Given the description of an element on the screen output the (x, y) to click on. 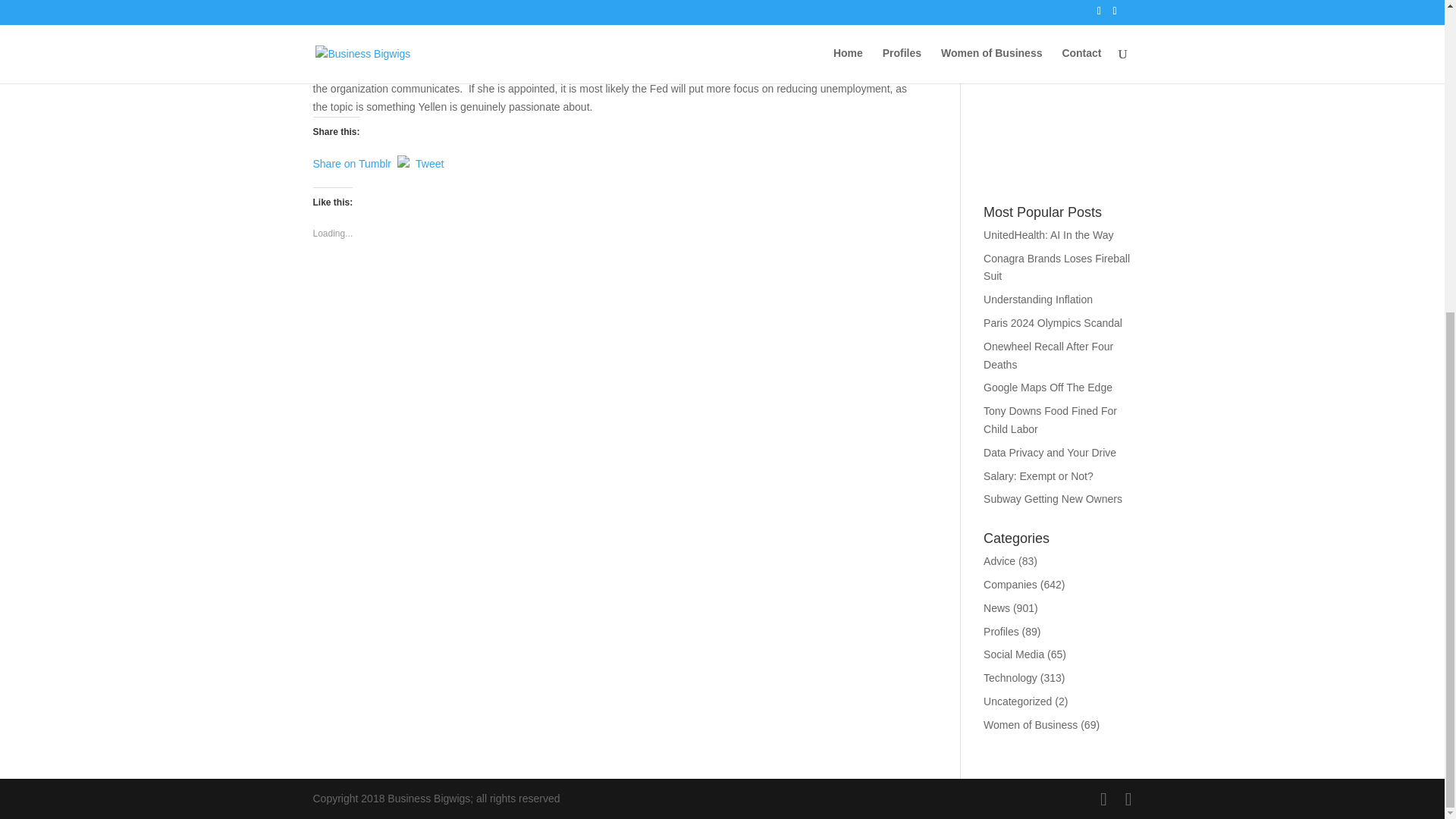
Google Maps Off The Edge (1048, 387)
Uncategorized (1017, 701)
Share on Tumblr (352, 160)
Tony Downs Food Fined For Child Labor (1050, 419)
News (997, 607)
Share on Tumblr (352, 160)
UnitedHealth: AI In the Way (1048, 234)
Profiles (1001, 631)
Data Privacy and Your Drive (1050, 452)
Onewheel Recall After Four Deaths (1048, 355)
